Given the description of an element on the screen output the (x, y) to click on. 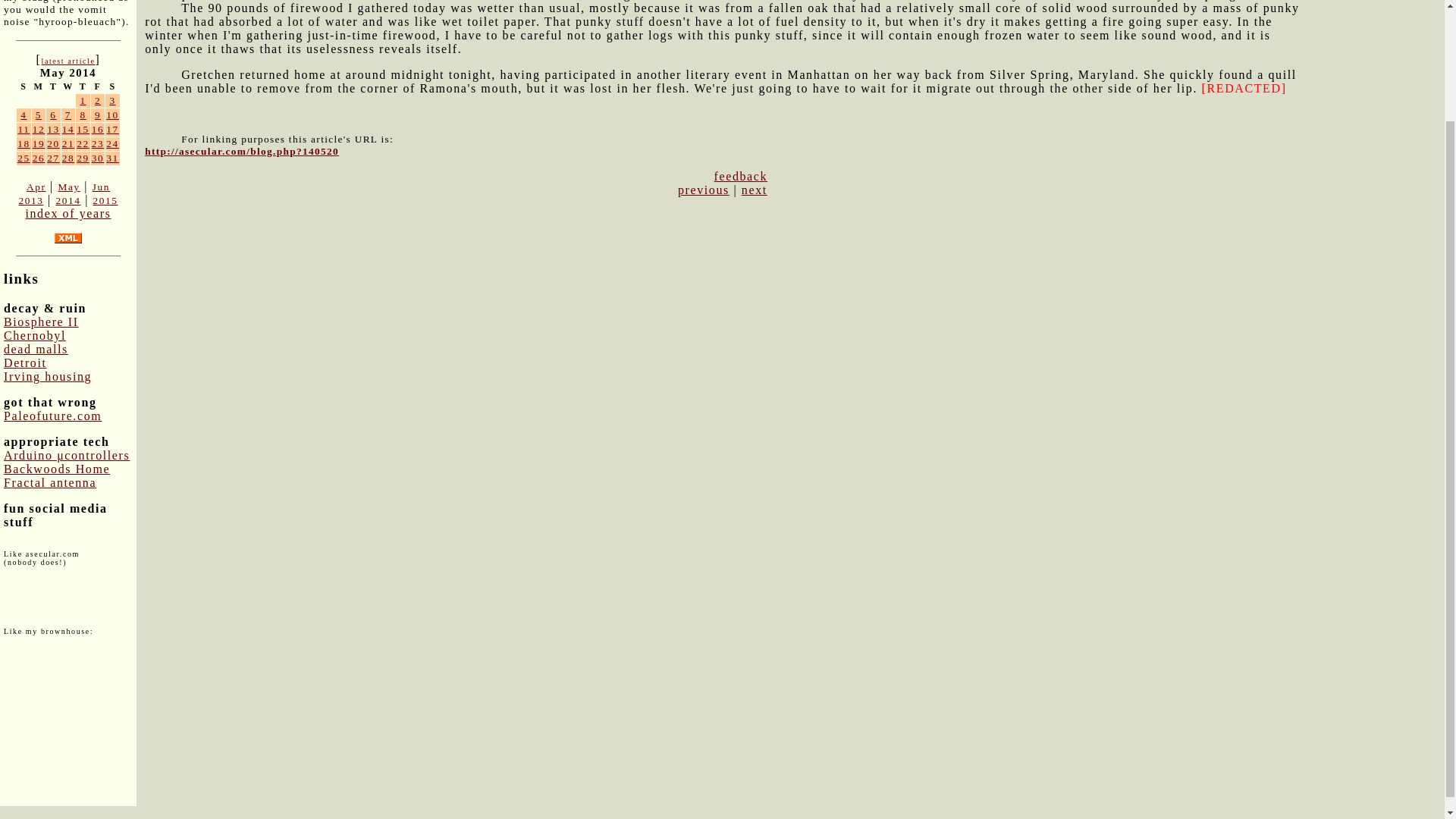
27 (52, 157)
29 (82, 157)
2013 (30, 200)
20 (52, 143)
28 (68, 157)
13 (52, 129)
15 (82, 129)
25 (23, 157)
24 (112, 143)
21 (68, 143)
